Given the description of an element on the screen output the (x, y) to click on. 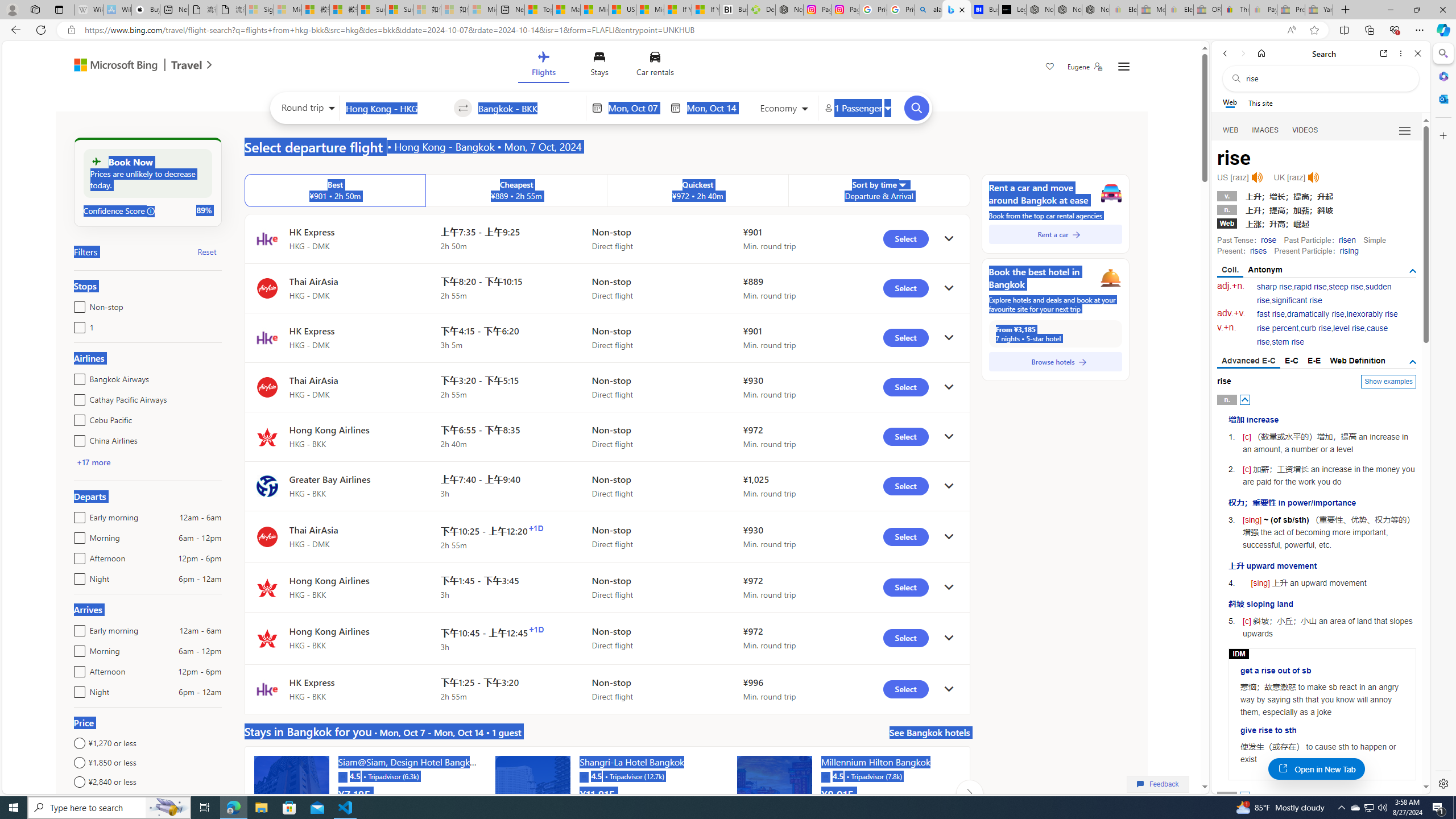
Yard, Garden & Outdoor Living - Sleeping (1319, 9)
click to get details (948, 688)
rapid rise (1310, 286)
Start Date (636, 107)
sharp rise (1274, 286)
Night6pm - 12am (76, 689)
Coll. (1230, 270)
Press Room - eBay Inc. - Sleeping (1291, 9)
Select class of service (784, 109)
